Given the description of an element on the screen output the (x, y) to click on. 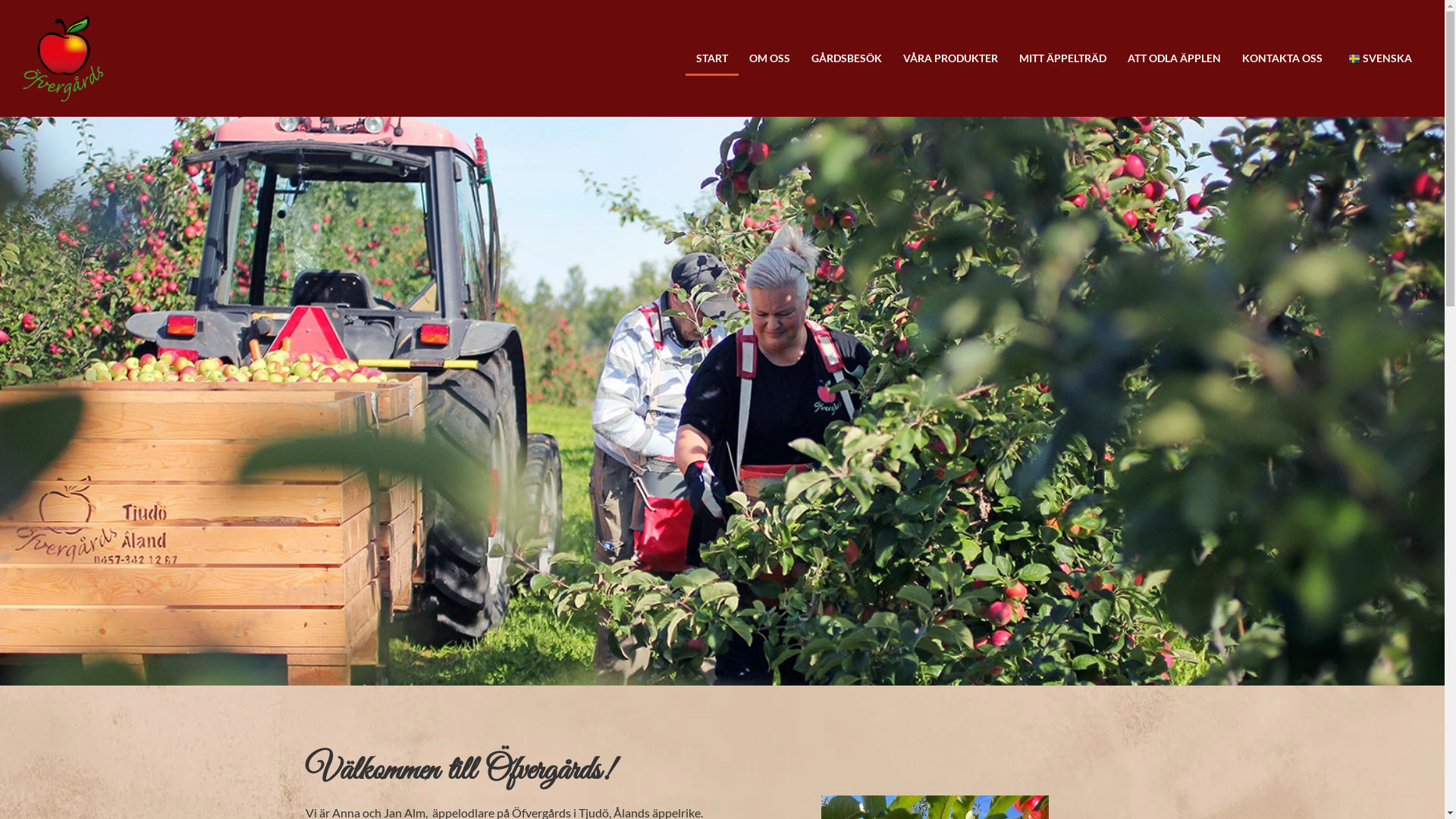
SVENSKA Element type: text (1381, 57)
KONTAKTA OSS Element type: text (1282, 57)
START Element type: text (711, 57)
OM OSS Element type: text (769, 57)
